Given the description of an element on the screen output the (x, y) to click on. 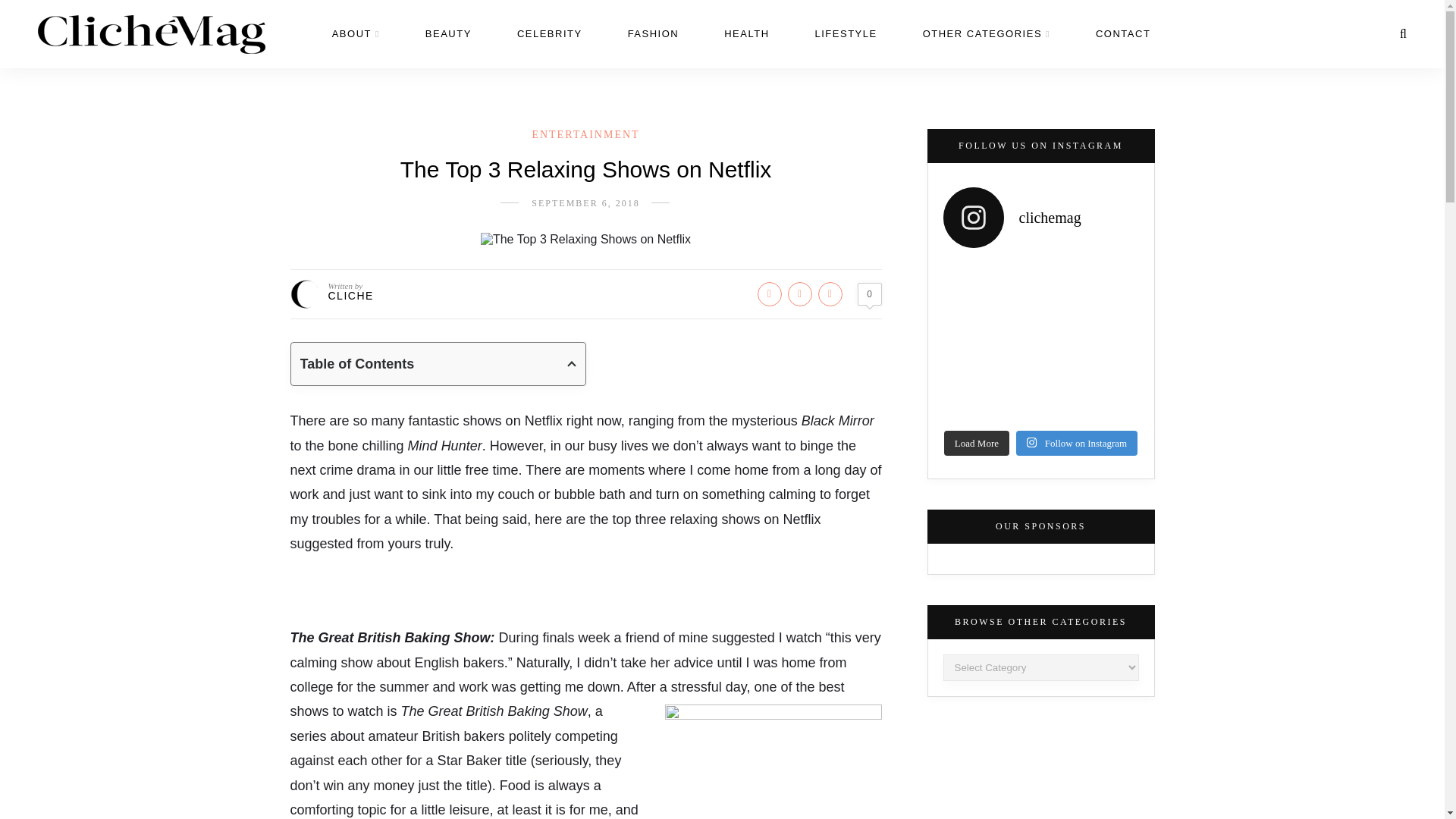
CELEBRITY (549, 33)
The Top 3 Relaxing Shows on Netflix (585, 239)
Posts by Cliche (349, 295)
